Given the description of an element on the screen output the (x, y) to click on. 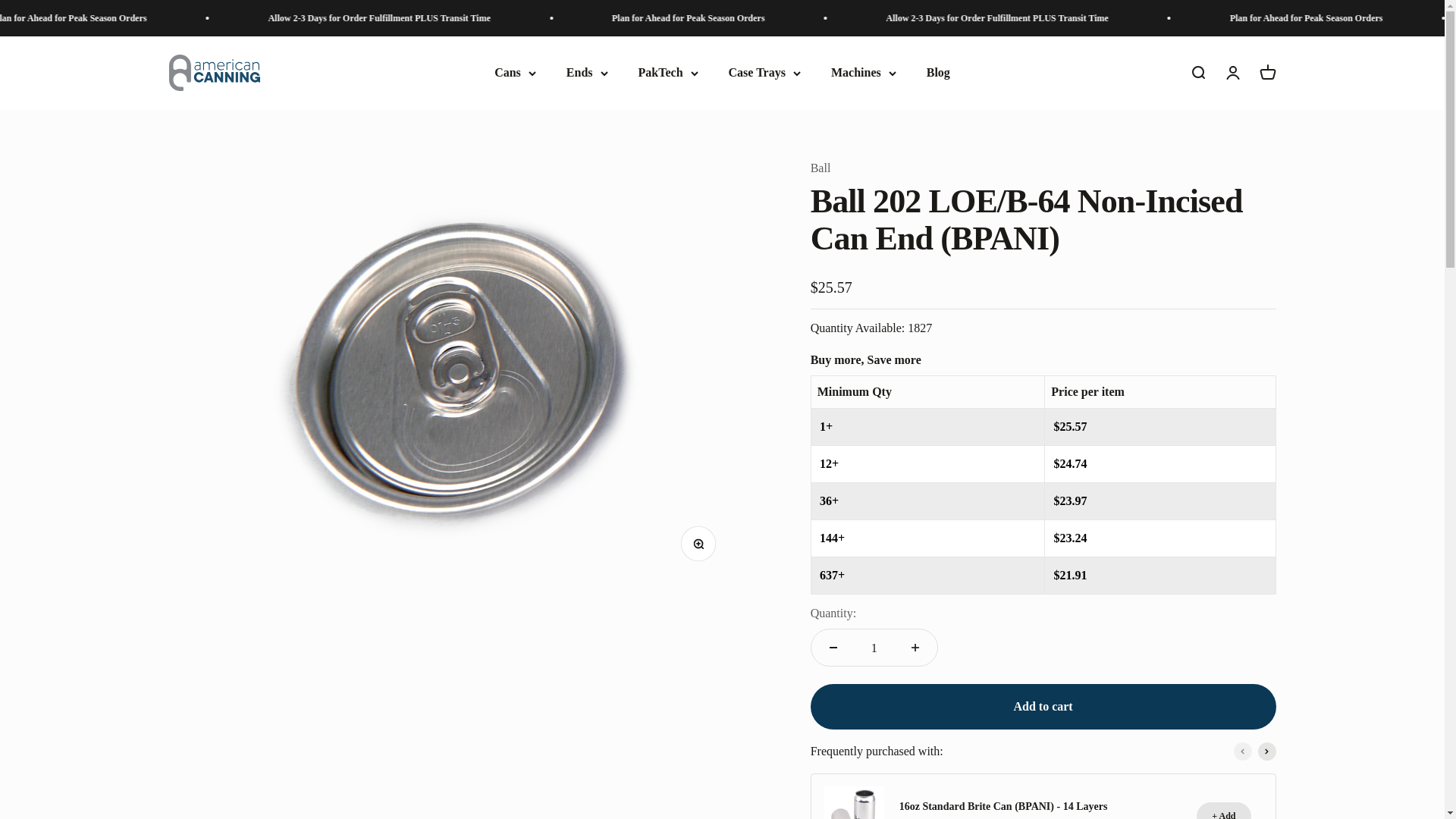
1 (874, 647)
